Given the description of an element on the screen output the (x, y) to click on. 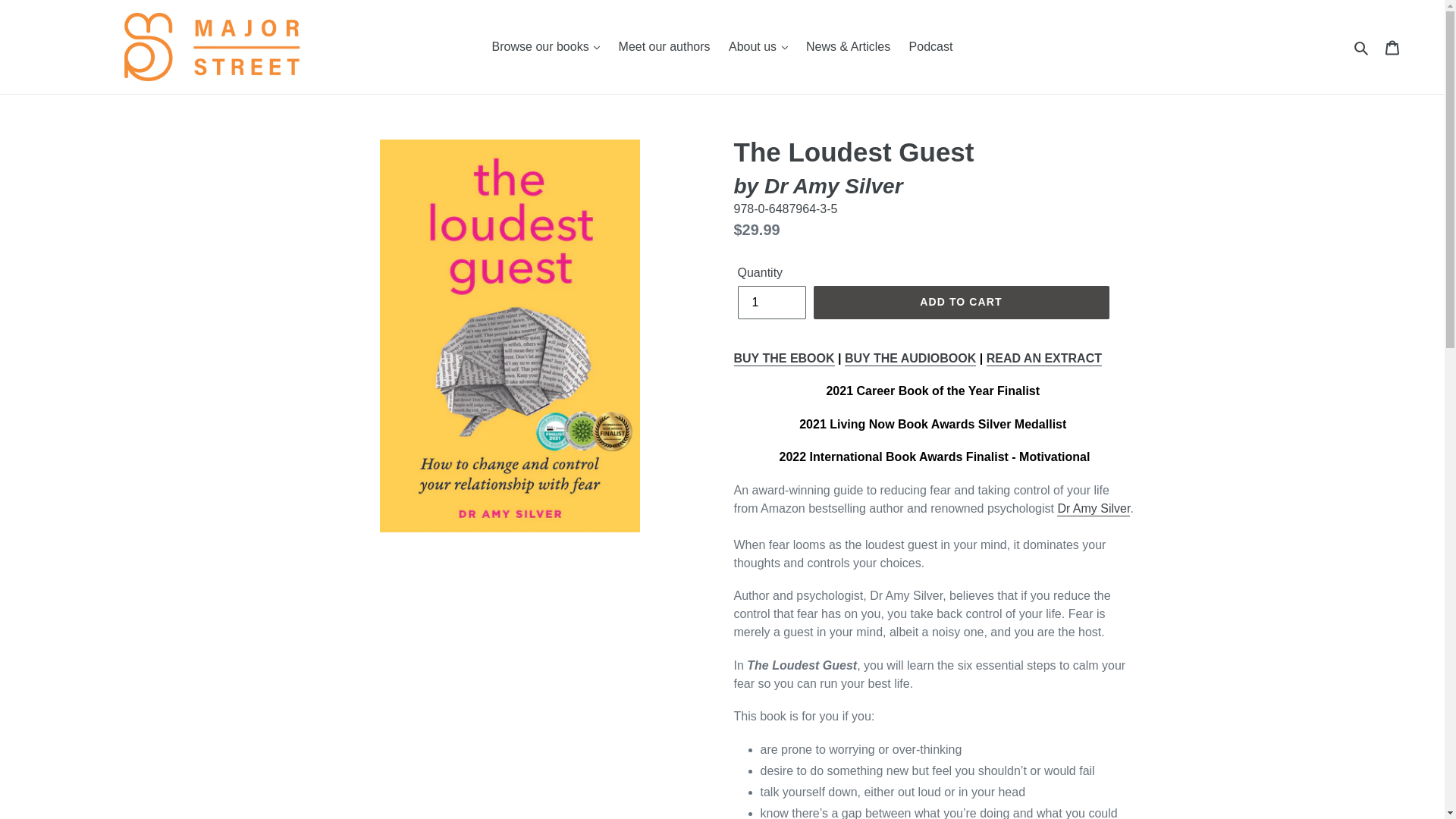
Submit (1361, 46)
1 (770, 302)
Cart (1392, 46)
Podcast (930, 47)
Meet our authors (664, 47)
